Given the description of an element on the screen output the (x, y) to click on. 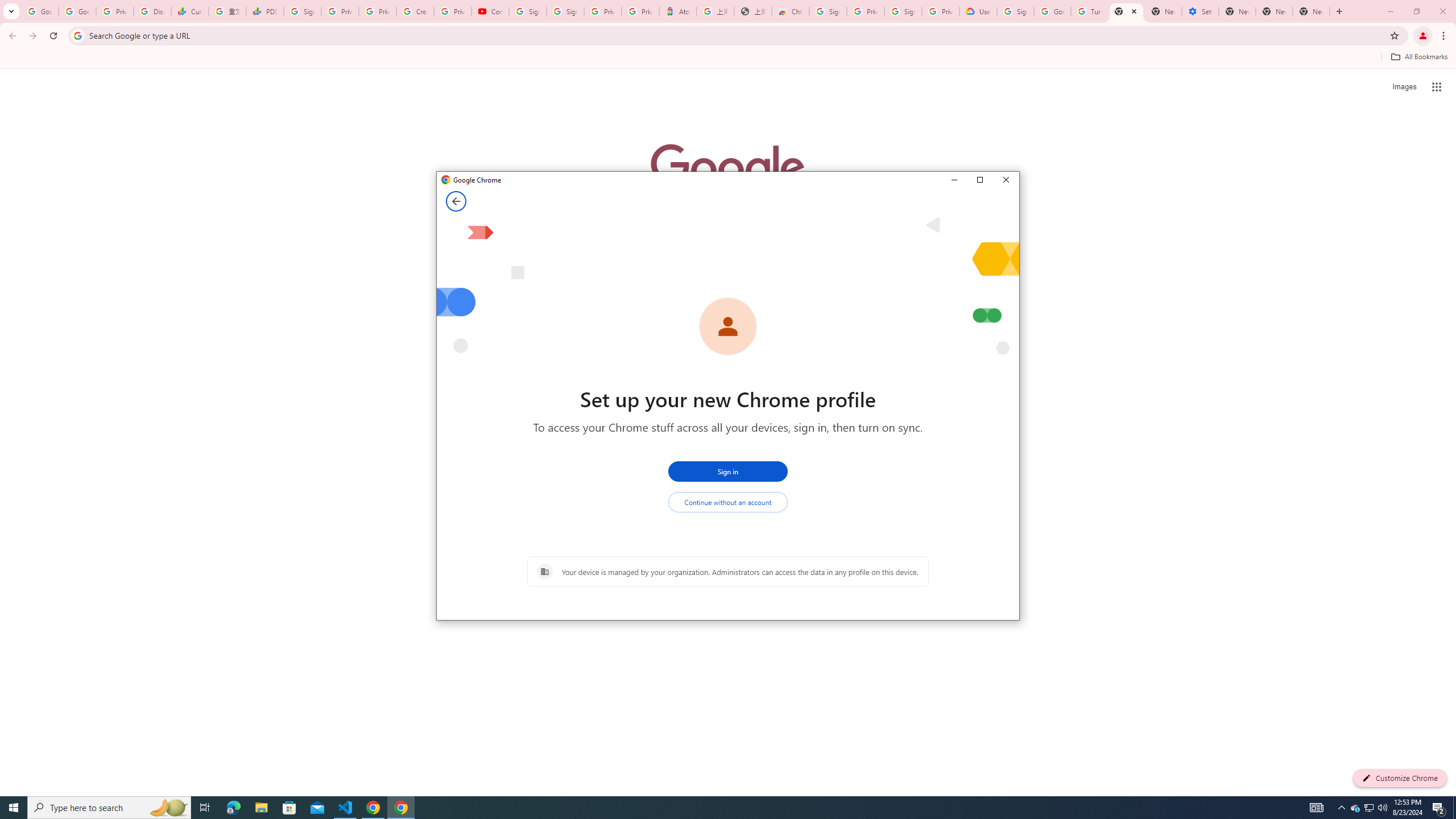
Task View (204, 807)
Atour Hotel - Google hotels (677, 11)
